Given the description of an element on the screen output the (x, y) to click on. 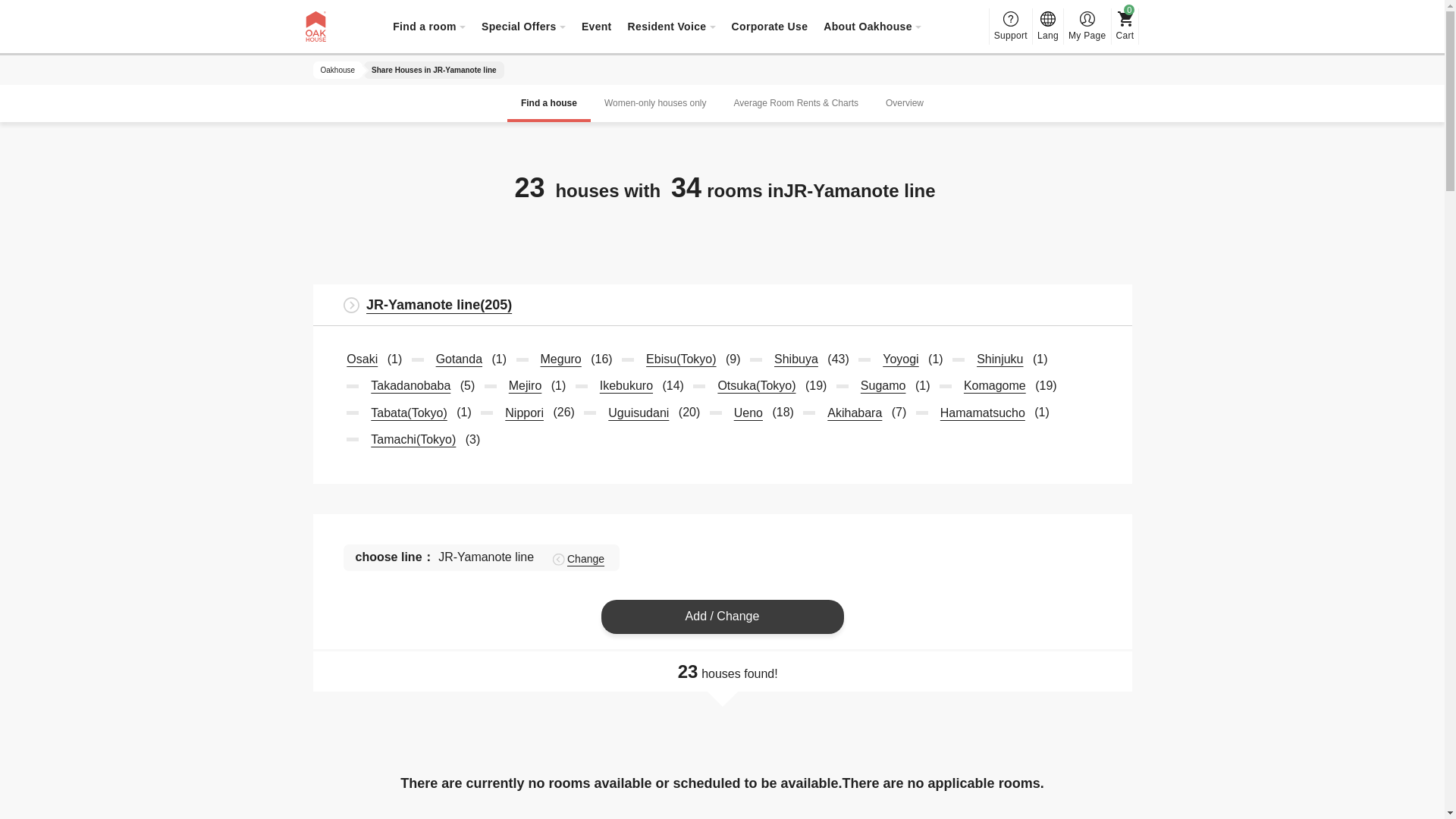
Overview (904, 103)
Women-only houses only (655, 103)
Find a room (429, 25)
Find a house (548, 103)
